Given the description of an element on the screen output the (x, y) to click on. 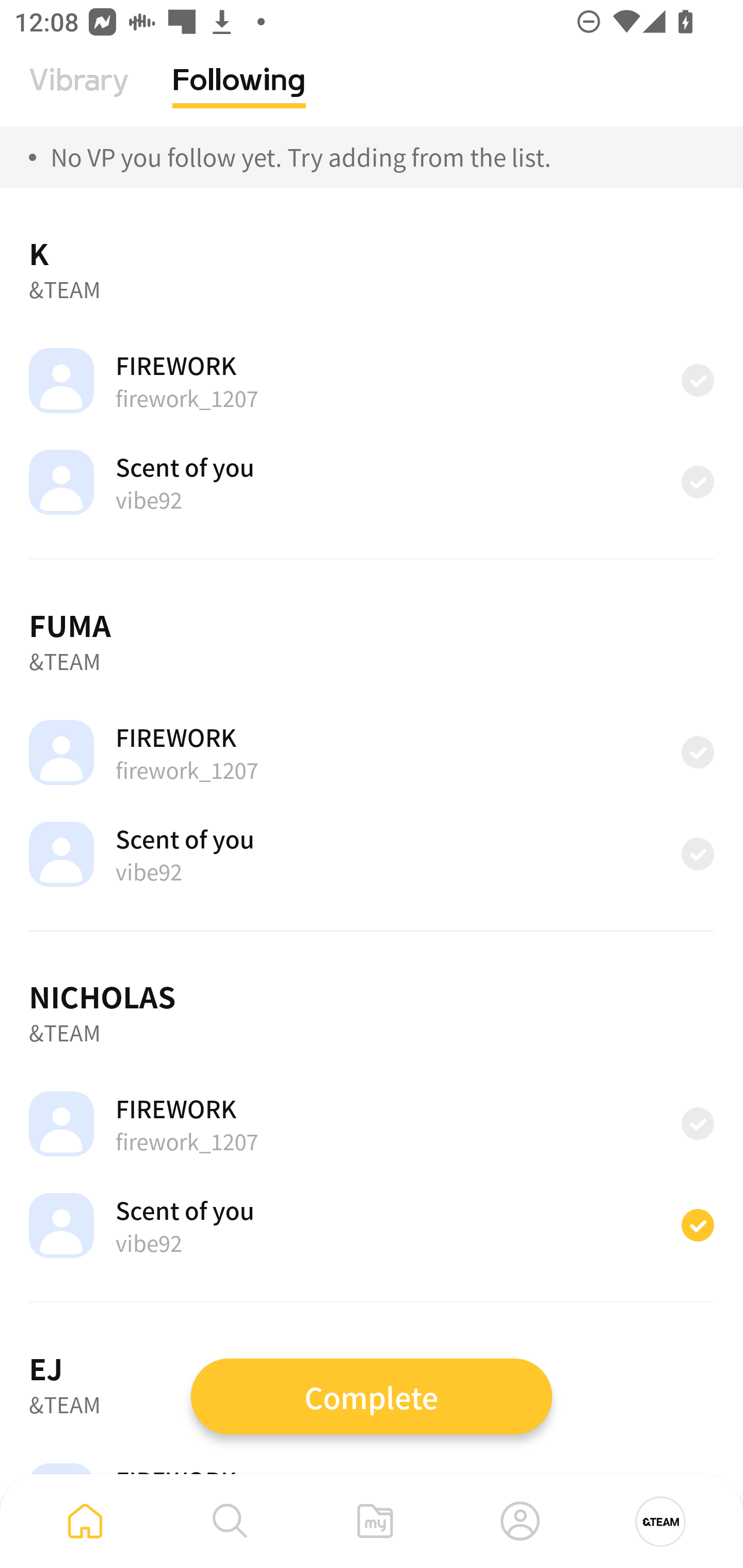
Vibrary (78, 95)
Following (239, 95)
FIREWORK firework_1207 (371, 380)
Scent of you vibe92 (371, 482)
FIREWORK firework_1207 (371, 752)
Scent of you vibe92 (371, 853)
FIREWORK firework_1207 (371, 1124)
Scent of you vibe92 (371, 1225)
Complete (371, 1395)
